Given the description of an element on the screen output the (x, y) to click on. 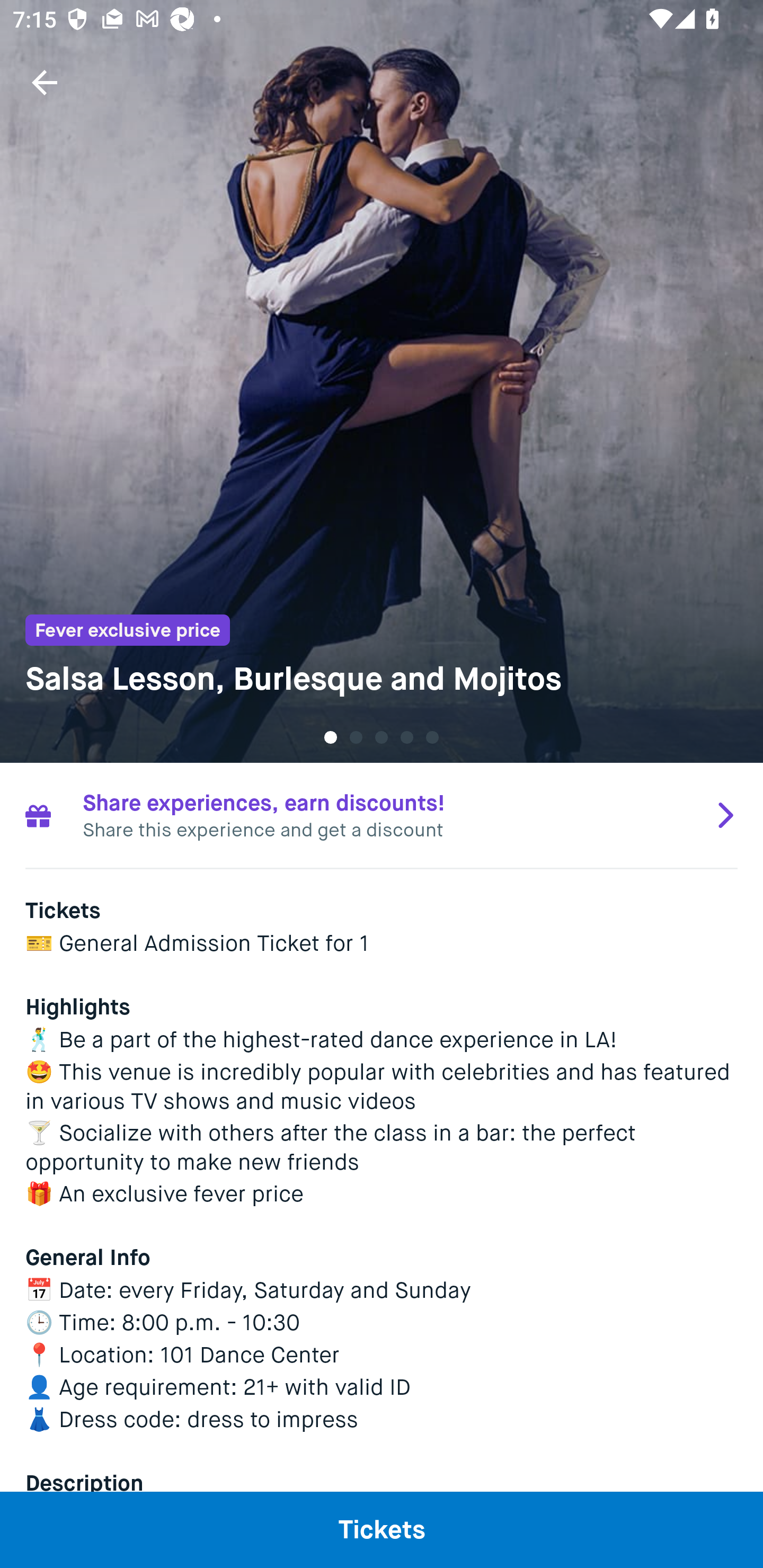
Navigate up (44, 82)
Tickets (381, 1529)
